Given the description of an element on the screen output the (x, y) to click on. 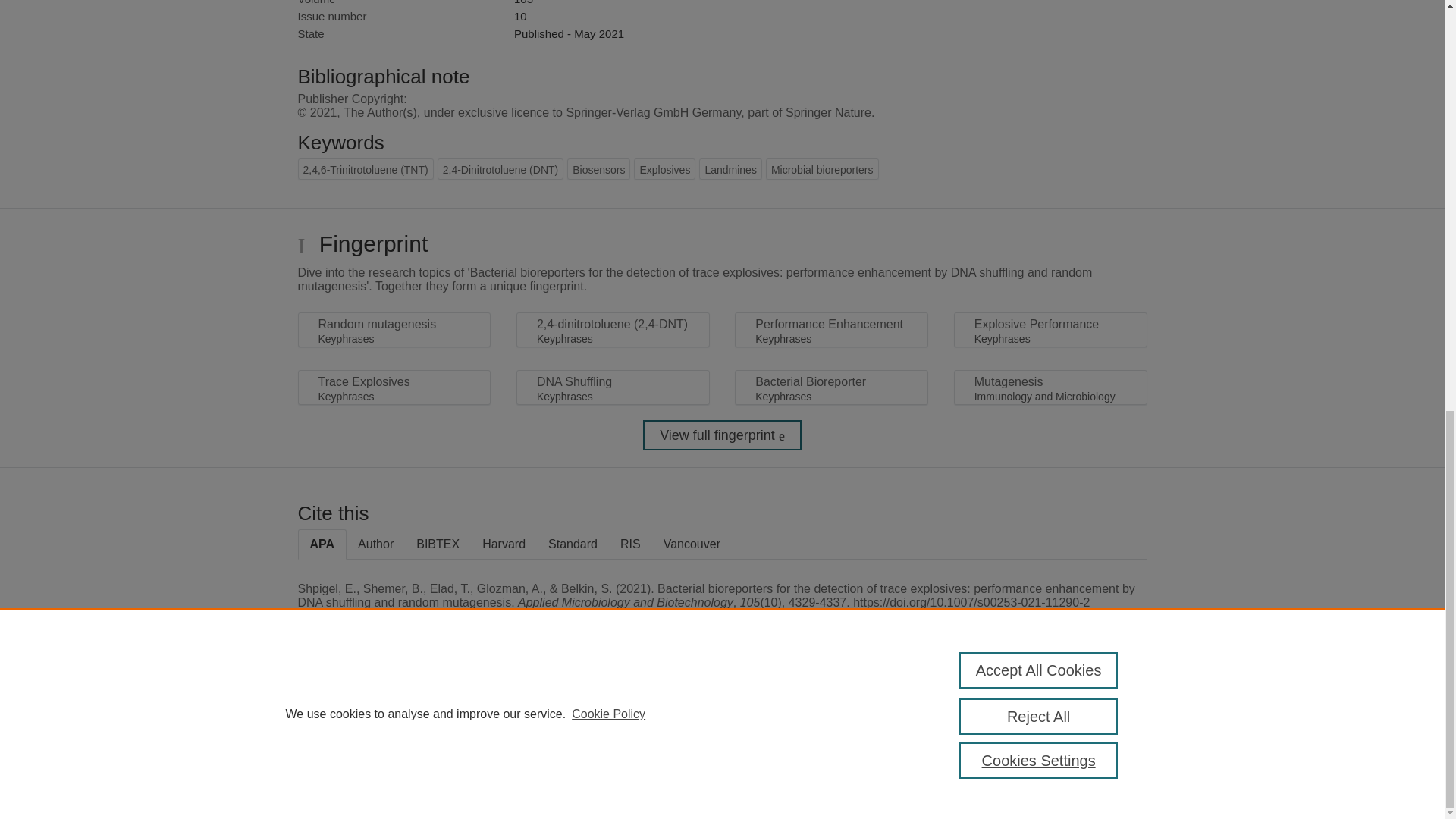
View full fingerprint (722, 435)
Scopus (394, 708)
use of cookies (796, 760)
Elsevier B.V. (506, 728)
Report vulnerability (1088, 745)
About web accessibility (1088, 713)
Cookies Settings (334, 781)
Pure (362, 708)
